Given the description of an element on the screen output the (x, y) to click on. 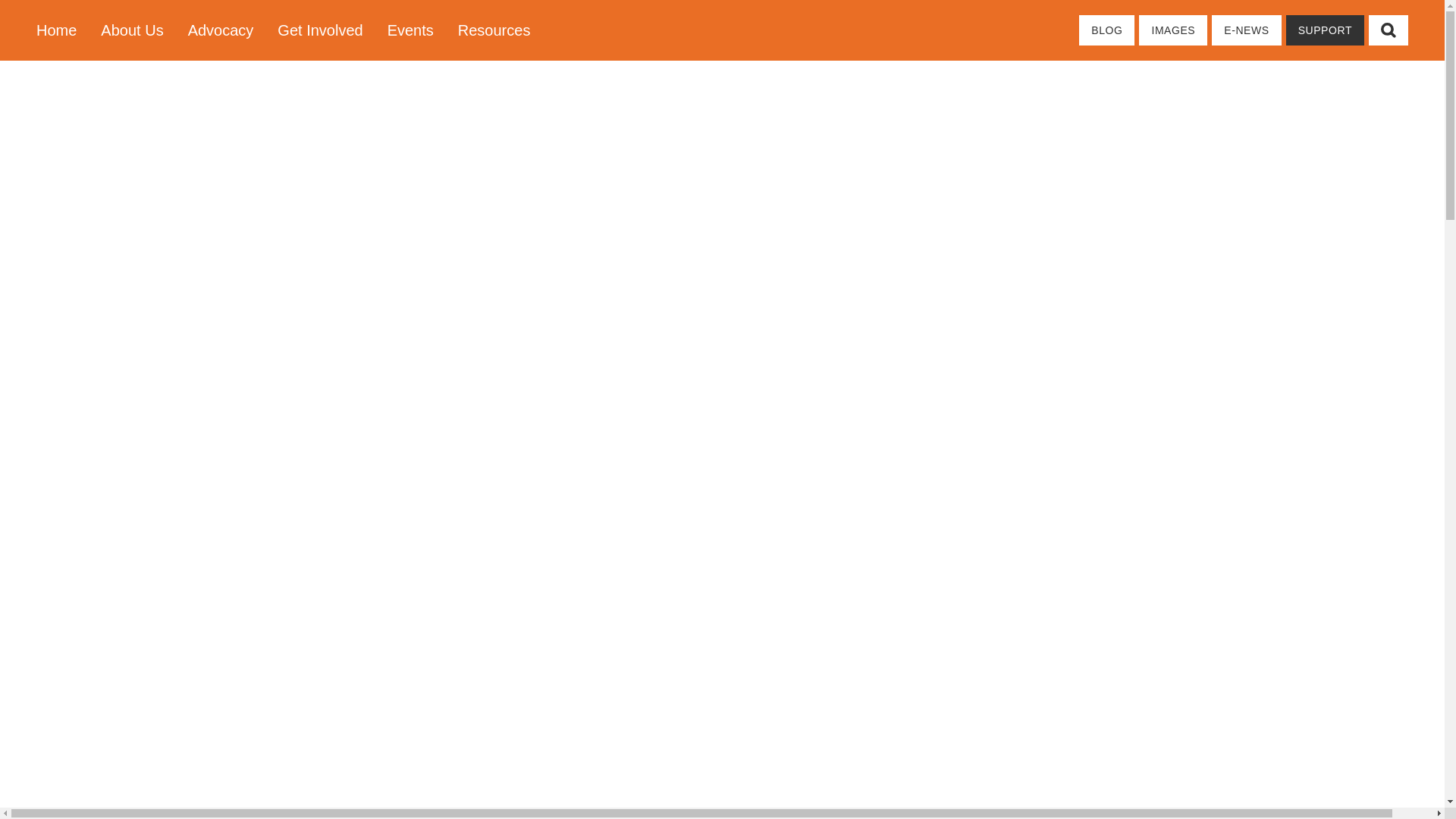
About Us (131, 30)
Events (410, 30)
Advocacy (221, 30)
Home (62, 30)
Get Involved (319, 30)
